Given the description of an element on the screen output the (x, y) to click on. 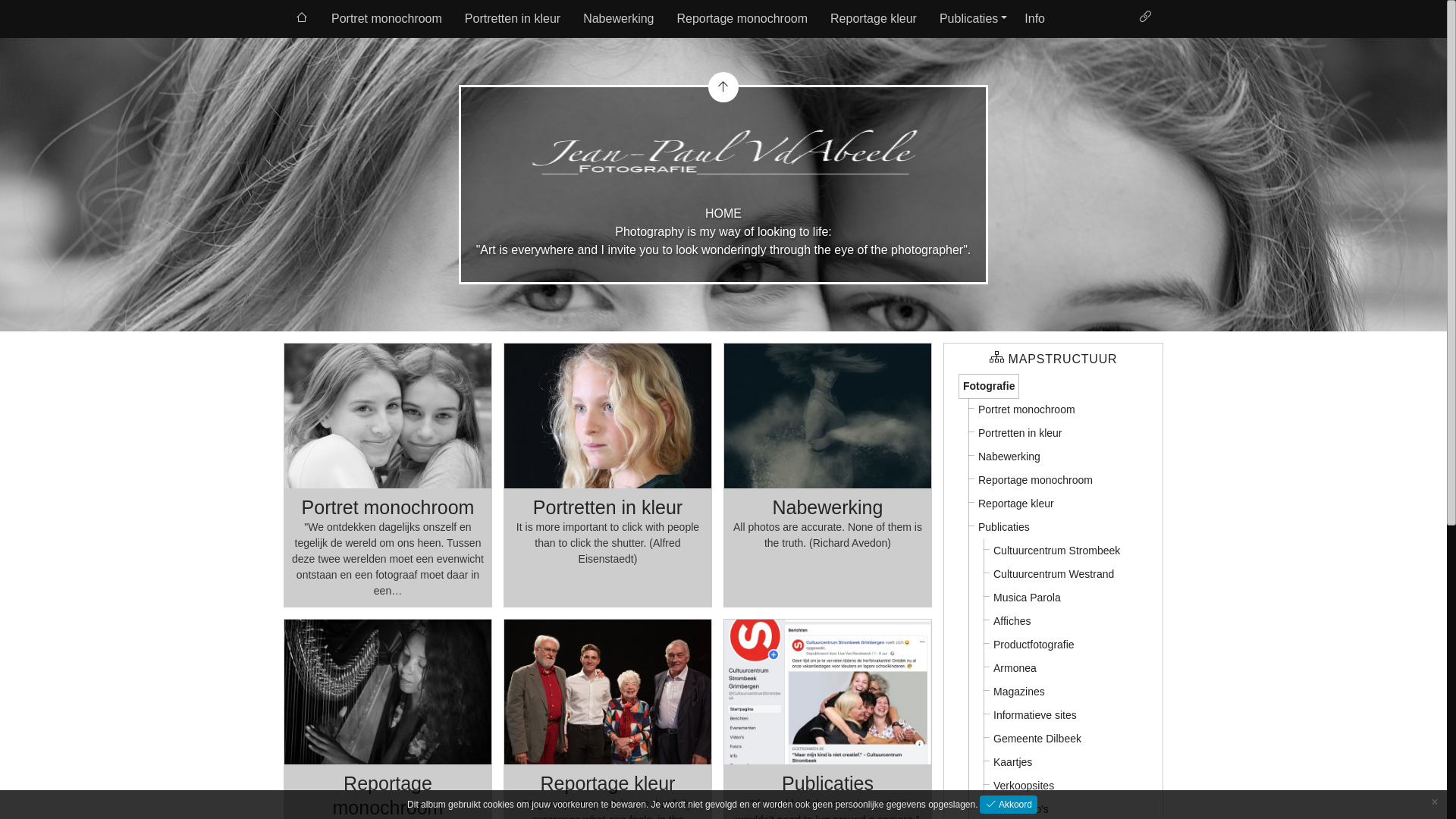
Publicaties Element type: text (1003, 527)
Magazines Element type: text (1018, 691)
Reportage kleur Element type: text (1015, 503)
Cultuurcentrum Strombeek Element type: text (1056, 550)
Nabewerking Element type: text (618, 18)
Portretten in kleur Element type: text (512, 18)
Musica Parola Element type: text (1026, 597)
Productfotografie Element type: text (1033, 644)
Portret monochroom Element type: text (386, 18)
Reportage monochroom Element type: text (387, 794)
Reportage monochroom Element type: text (1035, 480)
Reportage kleur Element type: text (607, 782)
Publicaties Element type: text (970, 18)
Reportage kleur Element type: text (873, 18)
Portret monochroom Element type: text (387, 506)
Publicaties Element type: text (827, 782)
Verkoopsites Element type: text (1023, 785)
Nabewerking Element type: text (1009, 456)
Nabewerking Element type: text (826, 506)
Portretten in kleur Element type: text (1020, 433)
Gemeente Dilbeek Element type: text (1037, 738)
Cultuurcentrum Westrand Element type: text (1053, 574)
Info Element type: text (1034, 18)
Affiches Element type: text (1012, 621)
Kaartjes Element type: text (1012, 762)
Informatieve sites Element type: text (1034, 715)
Fotografie Element type: text (988, 386)
Armonea Element type: text (1014, 668)
Akkoord Element type: text (1008, 804)
Portret monochroom Element type: text (1026, 409)
Portretten in kleur Element type: text (607, 506)
Reportage monochroom Element type: text (742, 18)
